Given the description of an element on the screen output the (x, y) to click on. 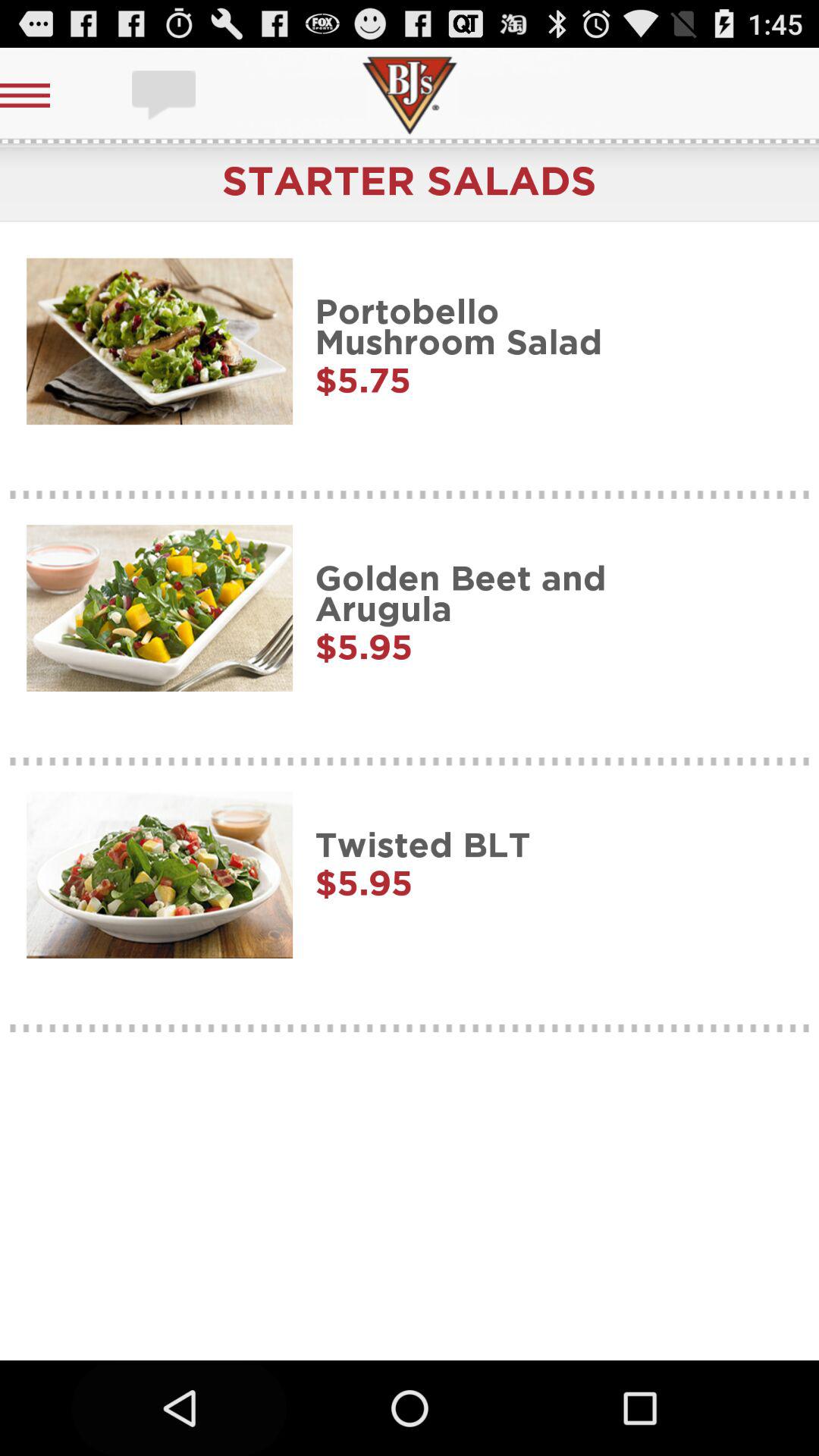
twitter (165, 95)
